Given the description of an element on the screen output the (x, y) to click on. 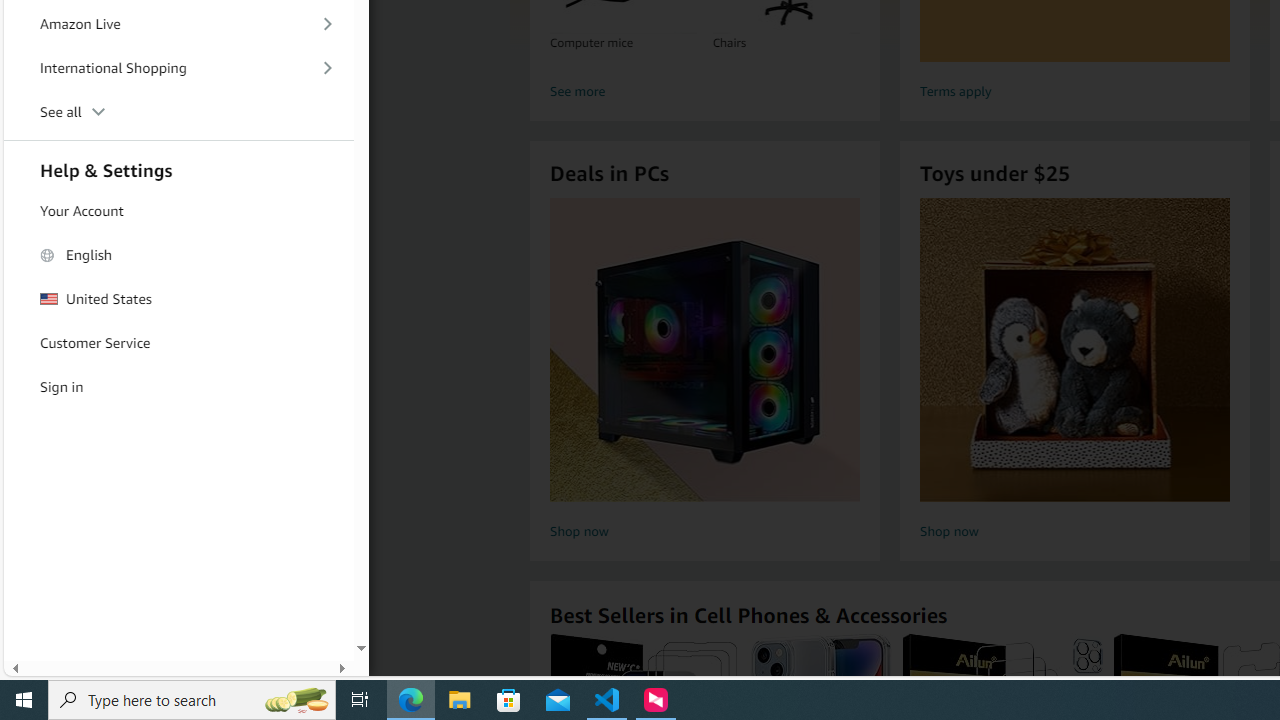
See all (178, 111)
Customer Service (178, 342)
Your Account (178, 210)
Amazon Live (178, 24)
Amazon Live (178, 23)
English (178, 255)
Your Account (178, 212)
International Shopping (178, 67)
Sign in (178, 386)
International Shopping (178, 68)
United States (178, 299)
Help & Settings (178, 168)
Sign in (178, 387)
See all (178, 112)
English (178, 254)
